Given the description of an element on the screen output the (x, y) to click on. 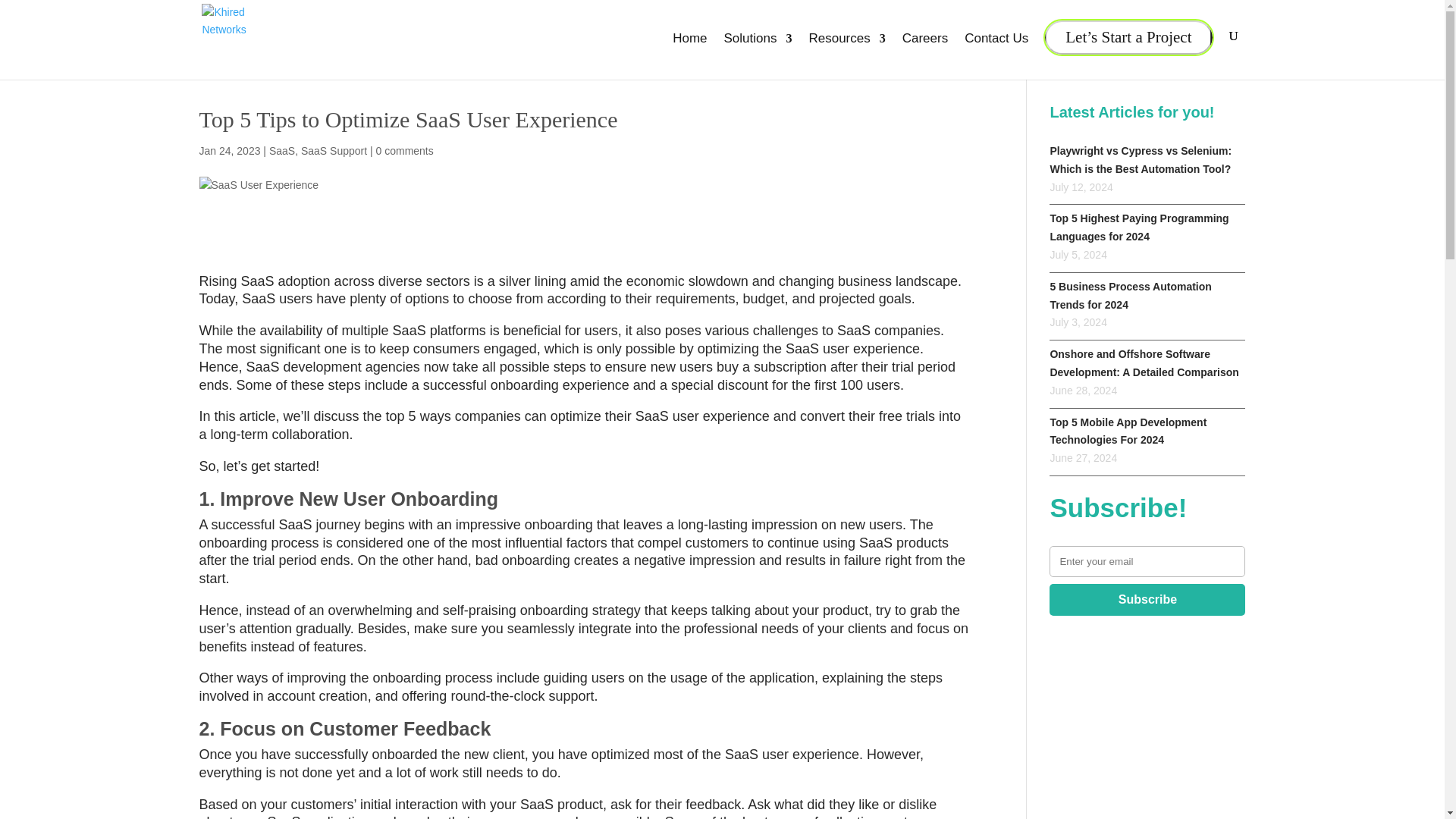
Subscribe (1146, 599)
Top 5 Mobile App Development Technologies For 2024 (1128, 442)
5 Business Process Automation Trends for 2024 (1130, 306)
Resources (846, 50)
Contact Us (995, 50)
Solutions (757, 50)
Home (689, 50)
Careers (924, 50)
0 comments (404, 150)
SaaS (282, 150)
Subscribe (1146, 599)
SaaS Support (333, 150)
Top 5 Highest Paying Programming Languages for 2024 (1138, 238)
